Given the description of an element on the screen output the (x, y) to click on. 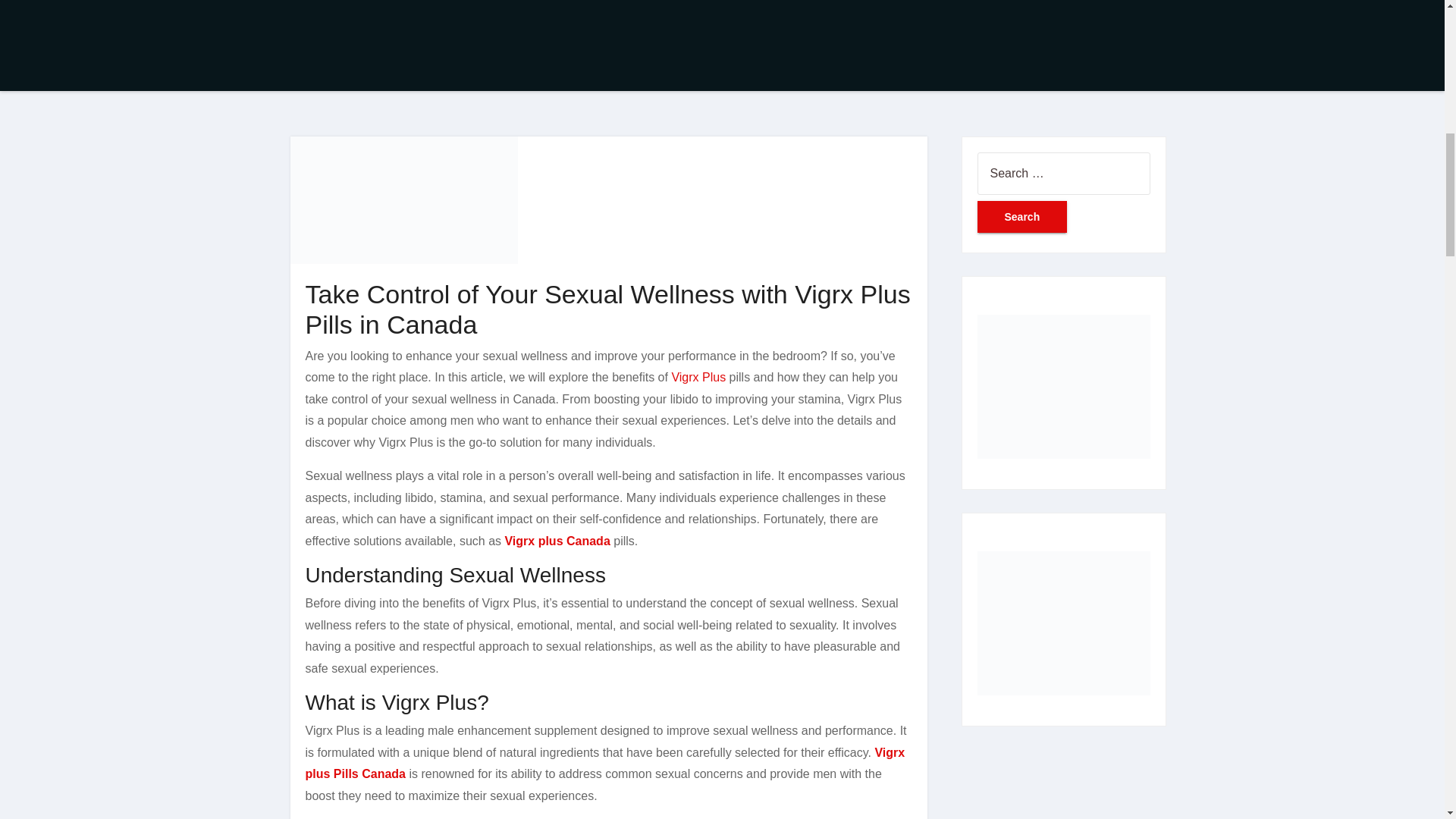
Vigrx Plus (698, 377)
Vigrx plus Canada (556, 540)
Search (1021, 216)
Search (1021, 216)
Vigrx plus Pills Canada (604, 763)
